Given the description of an element on the screen output the (x, y) to click on. 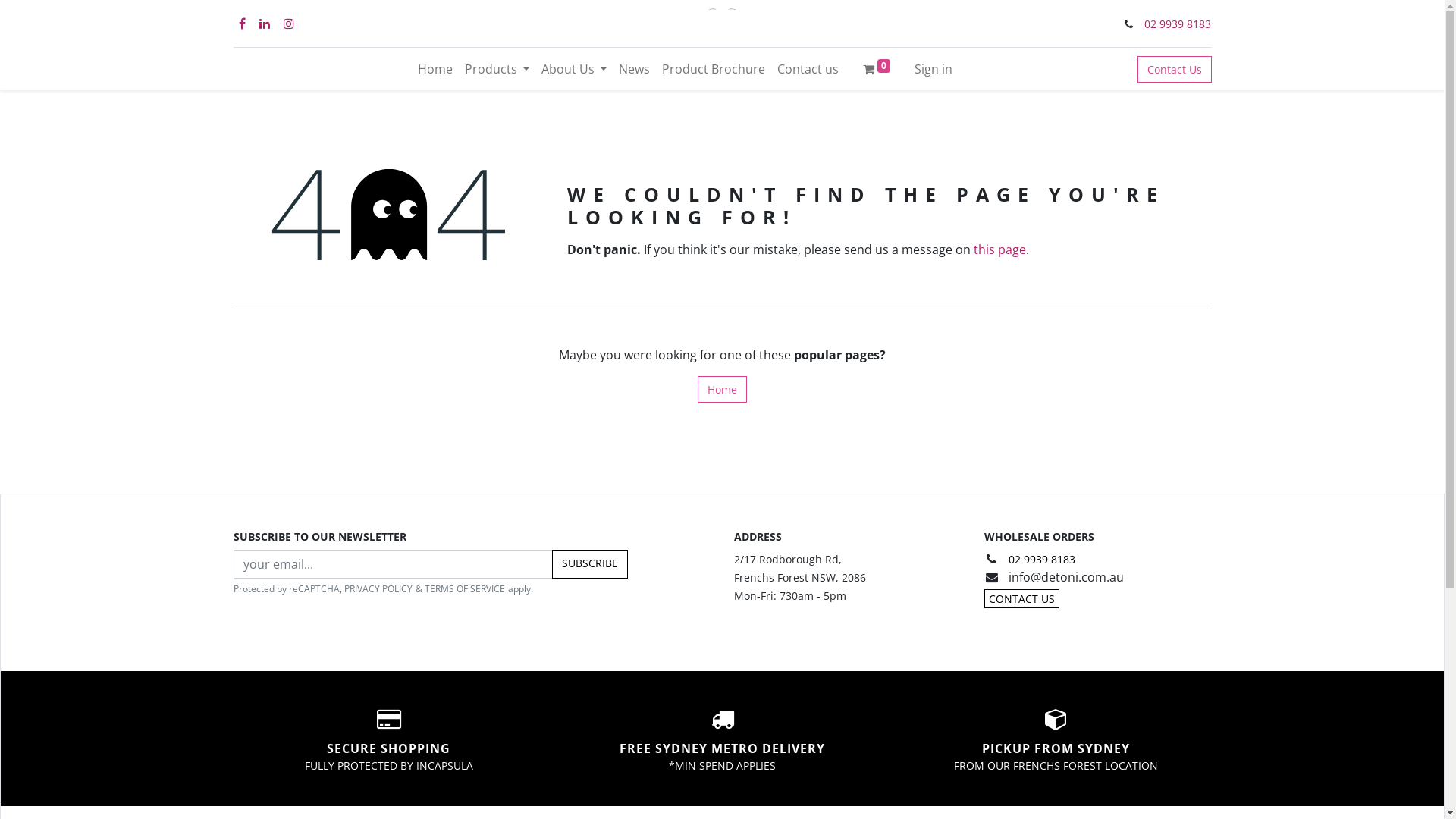
Home Element type: text (721, 389)
De Toni Patisserie Element type: hover (722, 23)
Contact Us Element type: text (1174, 69)
Home Element type: text (434, 68)
02 9939 8183 Element type: text (1041, 559)
0 Element type: text (876, 68)
About Us Element type: text (573, 68)
Sign in Element type: text (933, 68)
this page Element type: text (999, 249)
Products Element type: text (496, 68)
PRIVACY POLICY Element type: text (379, 587)
TERMS OF SERVICE Element type: text (466, 587)
02 9939 8183 Element type: text (1177, 23)
Contact us Element type: text (807, 68)
SUBSCRIBE Element type: text (589, 563)
CONTACT US Element type: text (1021, 598)
News Element type: text (633, 68)
Product Brochure Element type: text (713, 68)
